Given the description of an element on the screen output the (x, y) to click on. 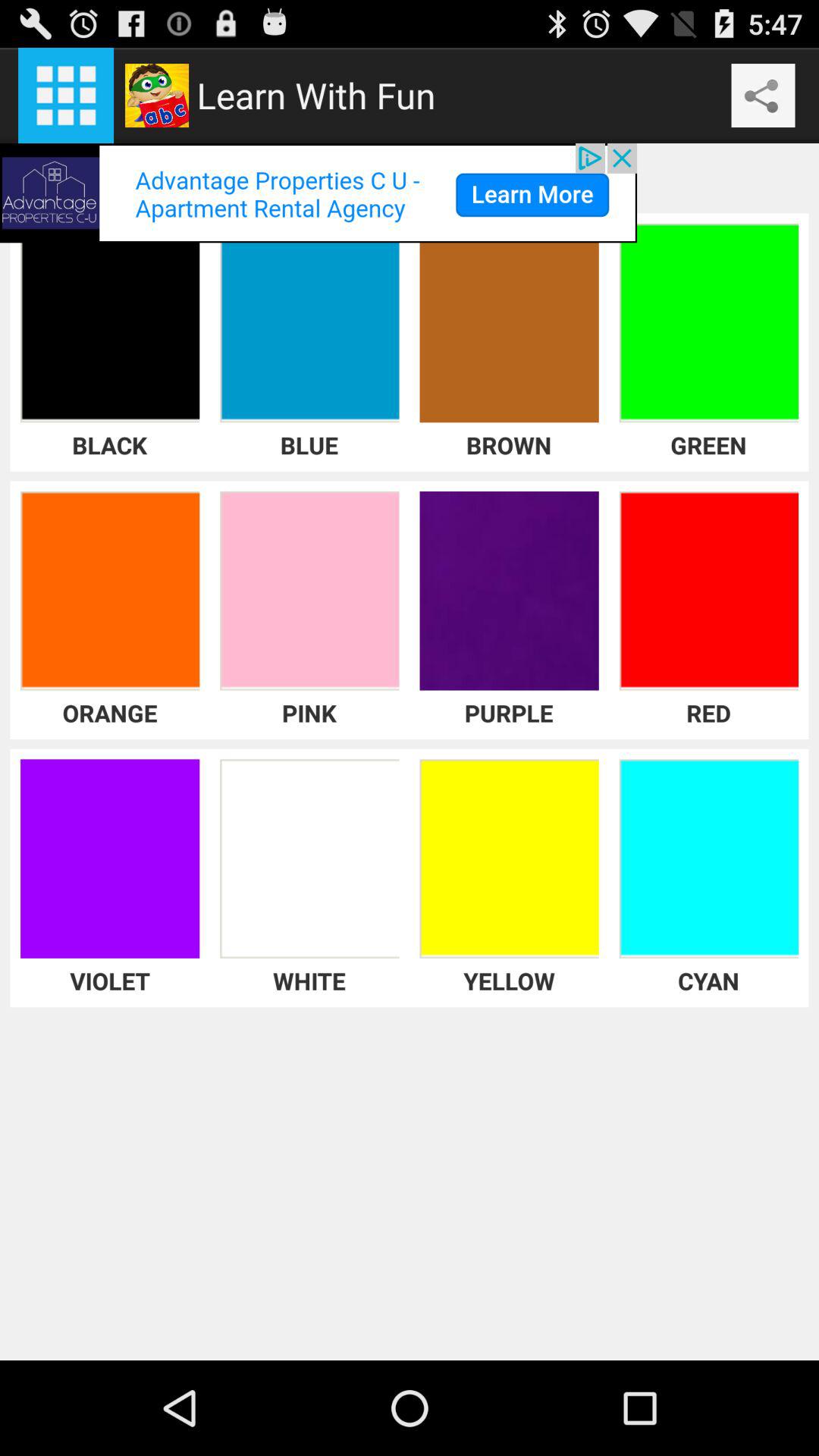
press the item above black app (318, 192)
